Given the description of an element on the screen output the (x, y) to click on. 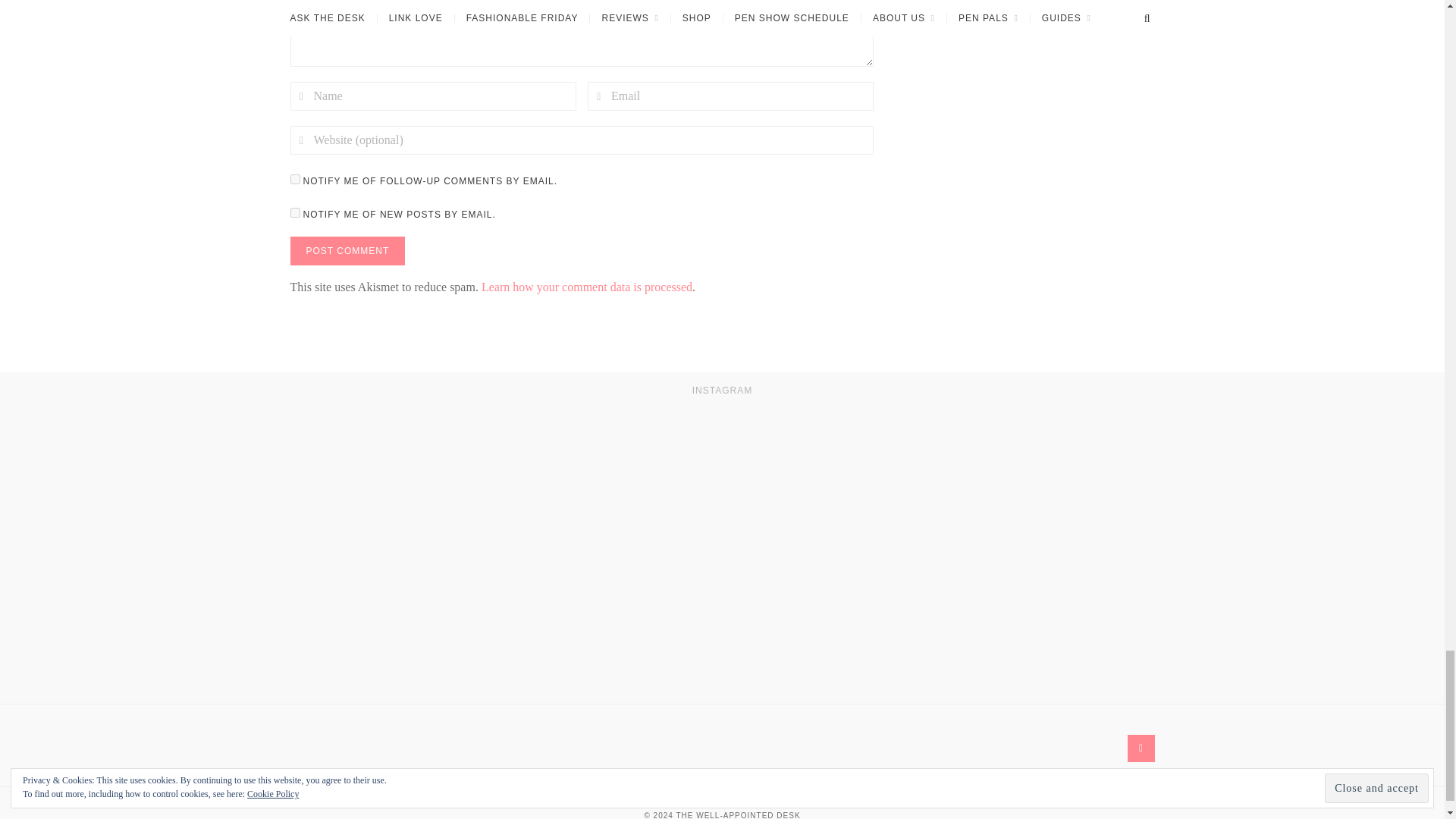
subscribe (294, 179)
subscribe (294, 212)
Post Comment (346, 250)
